Given the description of an element on the screen output the (x, y) to click on. 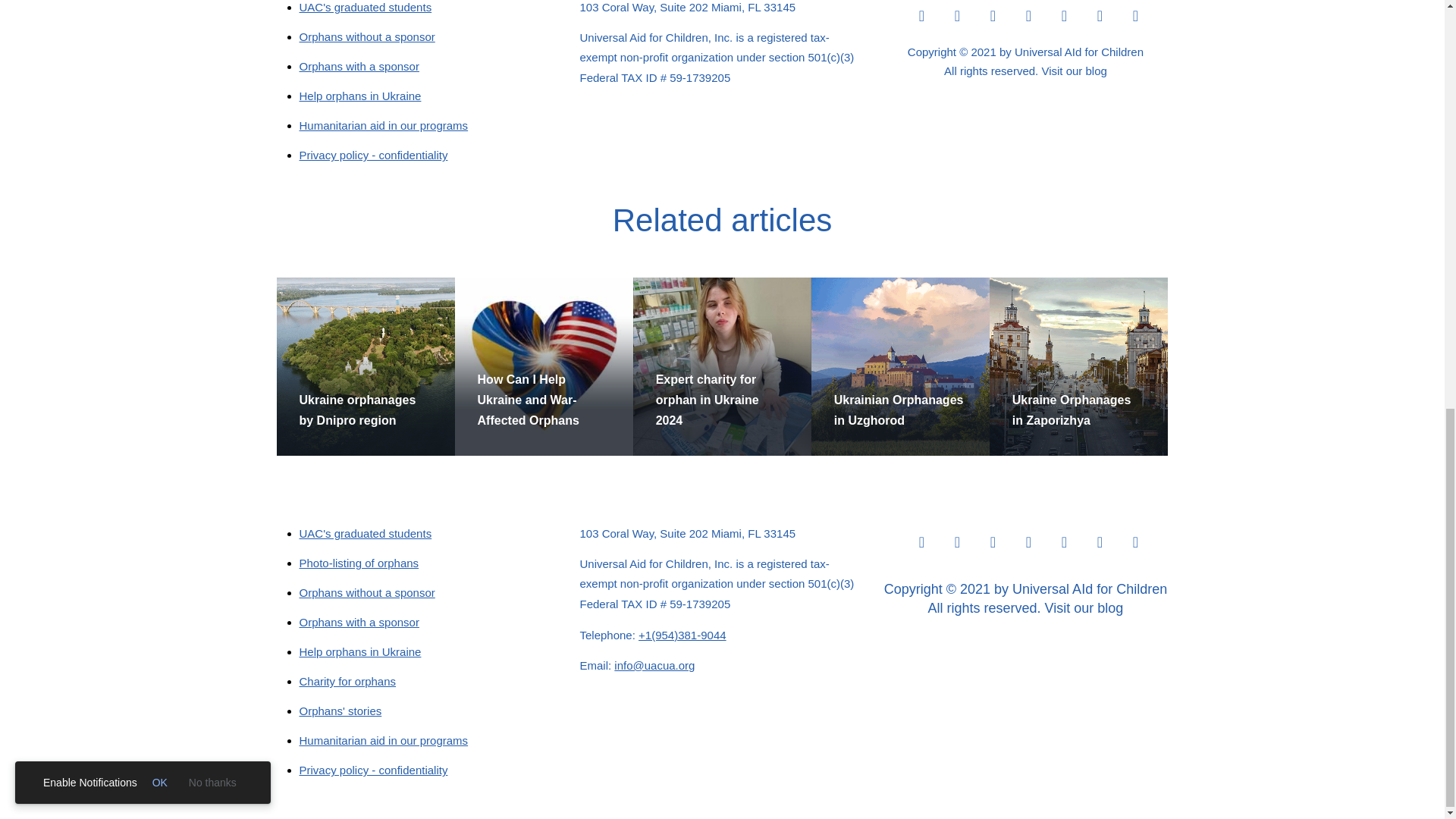
Orphans without a sponsor (365, 36)
Ukraine Orphanages in Zaporizhya (1071, 409)
Orphans with a sponsor (358, 65)
UAC's graduated students (364, 533)
Expert charity for orphan in Ukraine 2024 (707, 399)
Ukraine orphanages by Dnipro region (356, 409)
Humanitarian aid in our programs (382, 124)
Help orphans in Ukraine (359, 95)
How Can I Help Ukraine and War-Affected Orphans (528, 399)
Ukrainian Orphanages in Uzghorod (898, 409)
UAC's graduated students (364, 6)
Privacy policy - confidentiality (372, 154)
Photo-listing of orphans (358, 562)
